Given the description of an element on the screen output the (x, y) to click on. 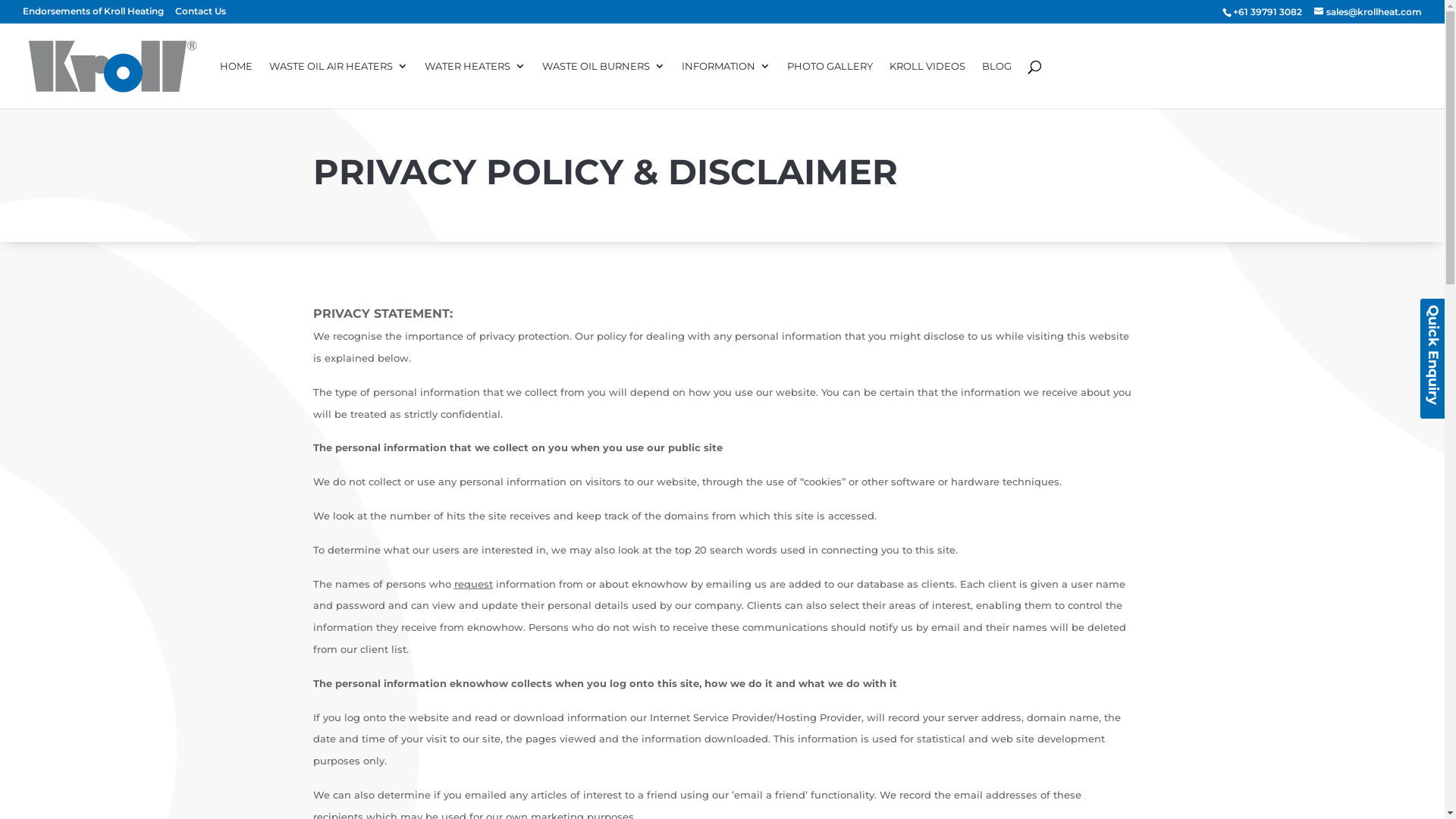
Contact Us Element type: text (200, 14)
WATER HEATERS Element type: text (474, 84)
INFORMATION Element type: text (725, 84)
WASTE OIL BURNERS Element type: text (603, 84)
HOME Element type: text (235, 84)
WASTE OIL AIR HEATERS Element type: text (338, 84)
KROLL VIDEOS Element type: text (927, 84)
PHOTO GALLERY Element type: text (829, 84)
Endorsements of Kroll Heating Element type: text (92, 14)
sales@krollheat.com Element type: text (1367, 11)
BLOG Element type: text (996, 84)
